Given the description of an element on the screen output the (x, y) to click on. 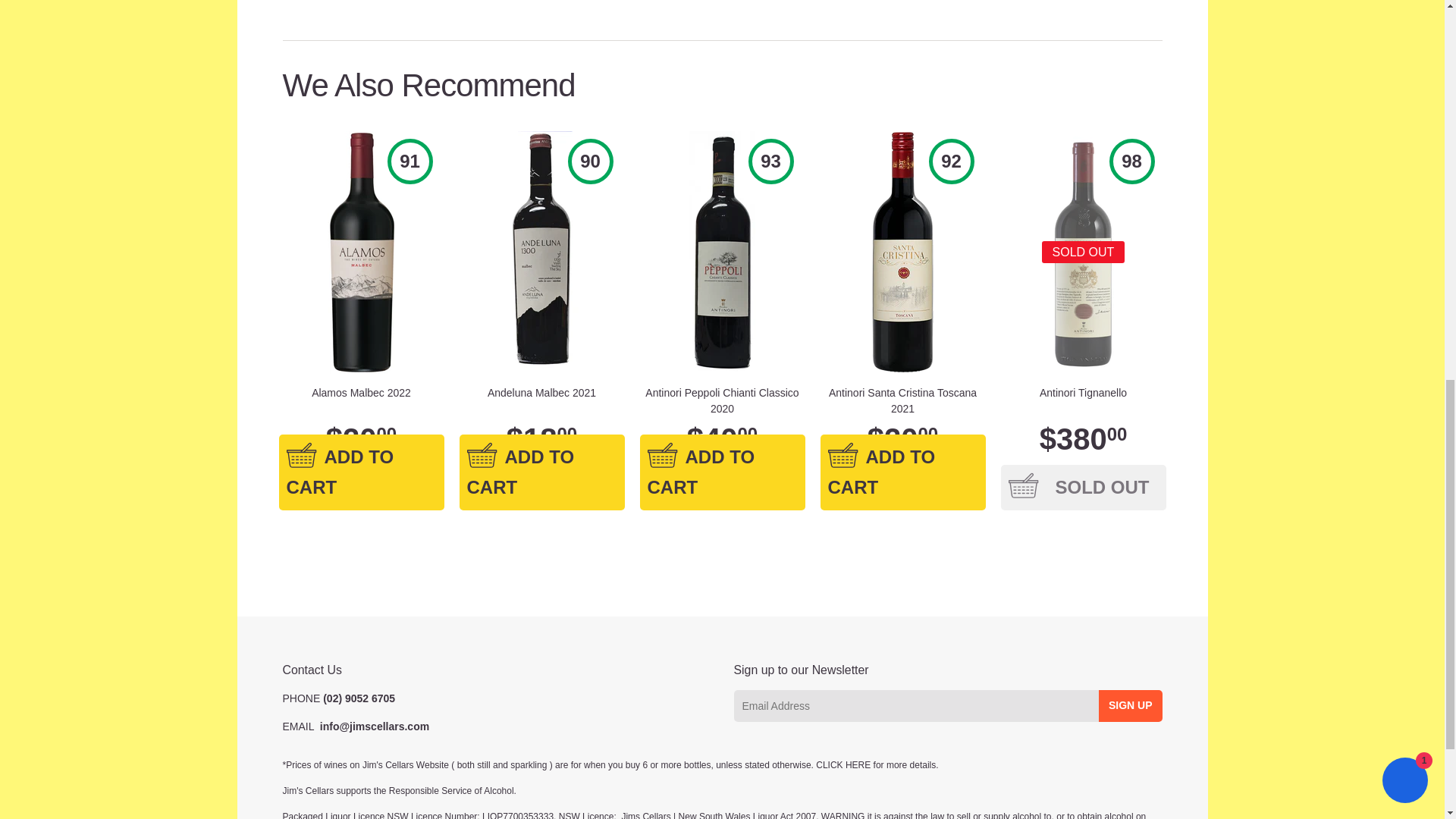
Contact Us (374, 726)
Terms and Conditions (842, 765)
